Given the description of an element on the screen output the (x, y) to click on. 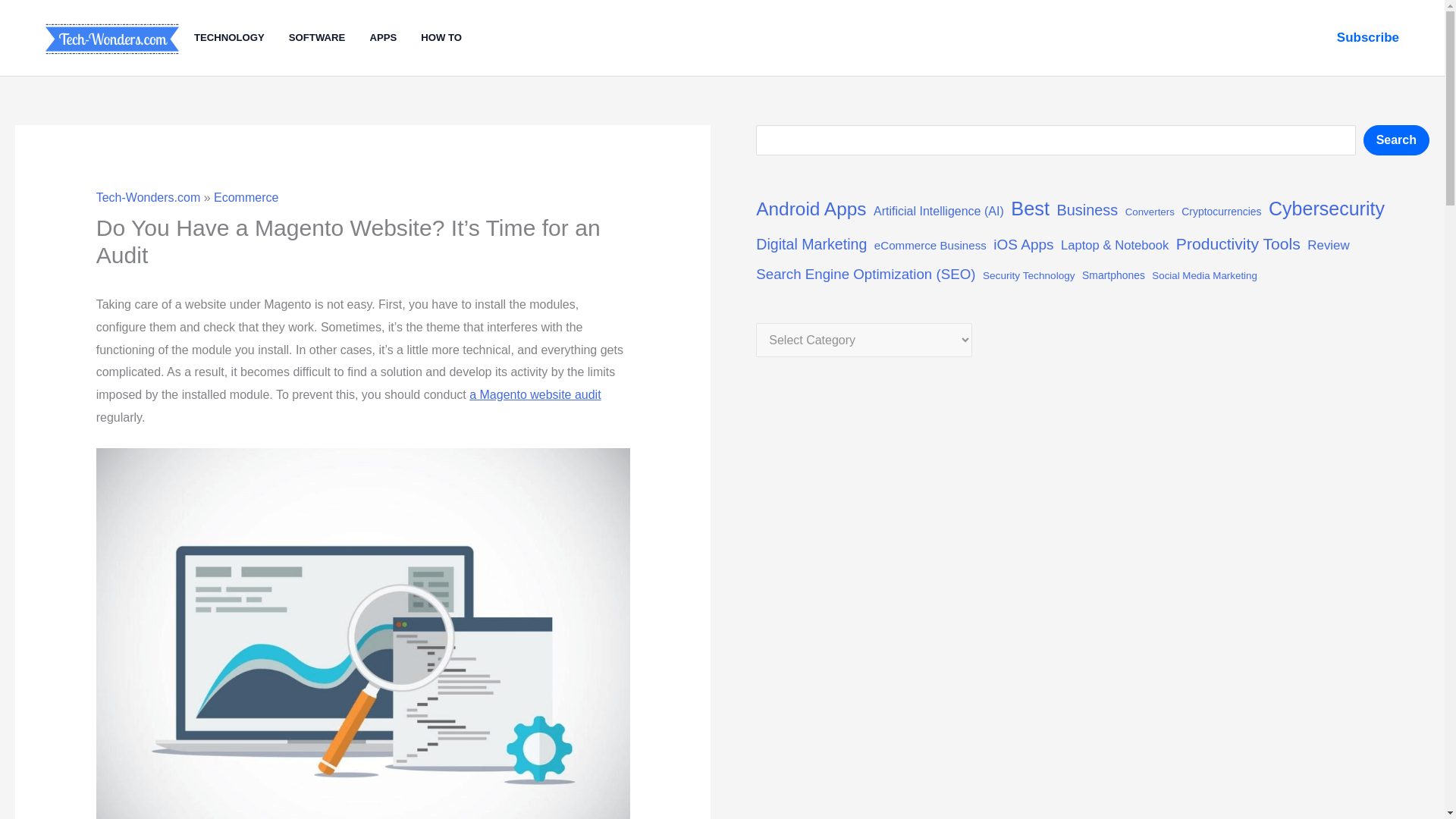
Business (1087, 210)
SOFTWARE (328, 38)
a Magento website audit (533, 394)
Cryptocurrencies (1220, 211)
Android Apps (810, 209)
Digital Marketing (810, 244)
Subscribe (1367, 37)
iOS Apps (1022, 244)
TECHNOLOGY (240, 38)
Converters (1149, 212)
